Given the description of an element on the screen output the (x, y) to click on. 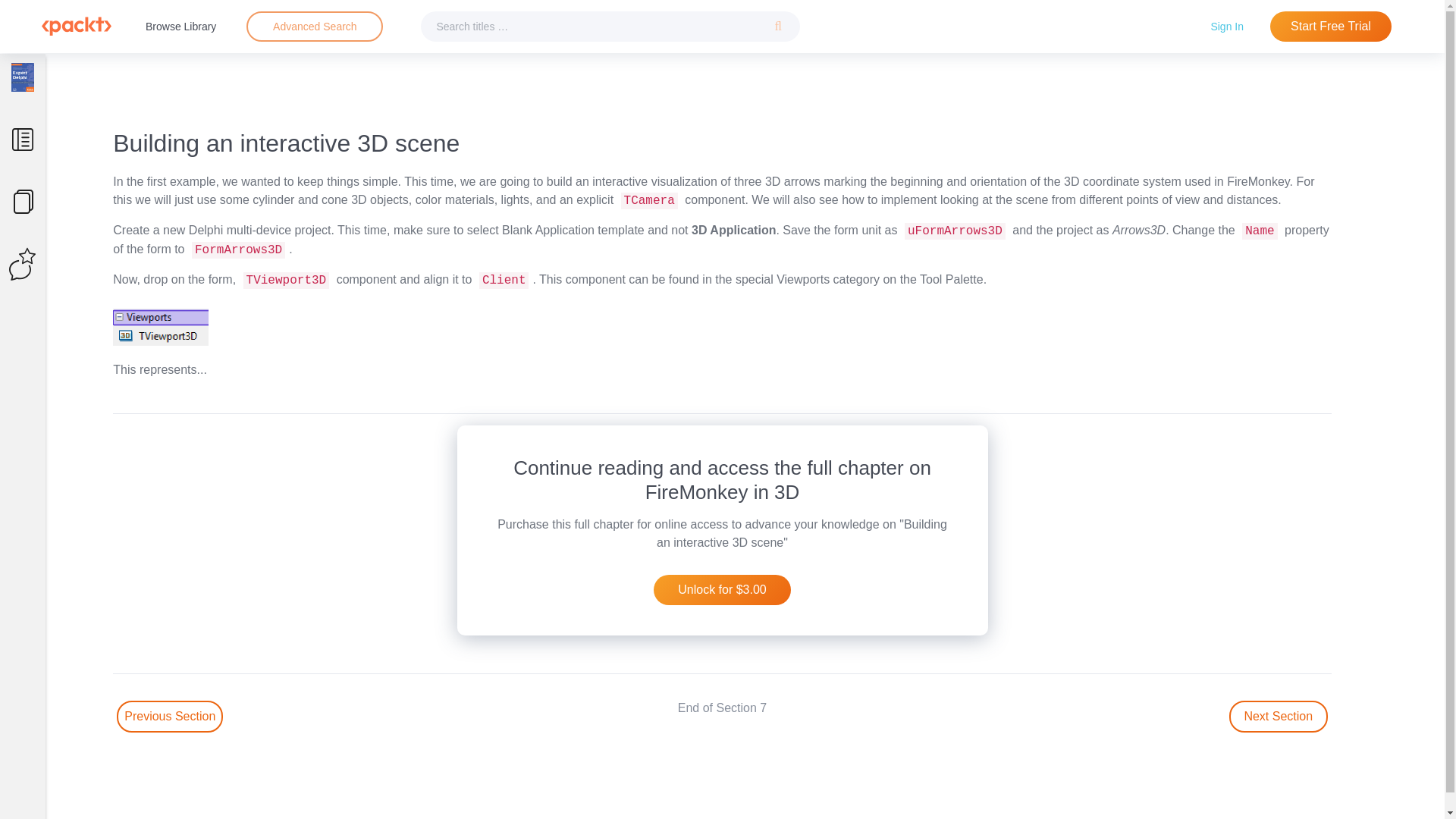
Advanced search (314, 26)
Start Free Trial (1330, 26)
Sign In (1227, 26)
Advanced Search (314, 26)
Go to Previous section (169, 716)
Browse Library (180, 26)
Go to next section (1277, 716)
Advanced Search (315, 26)
